Given the description of an element on the screen output the (x, y) to click on. 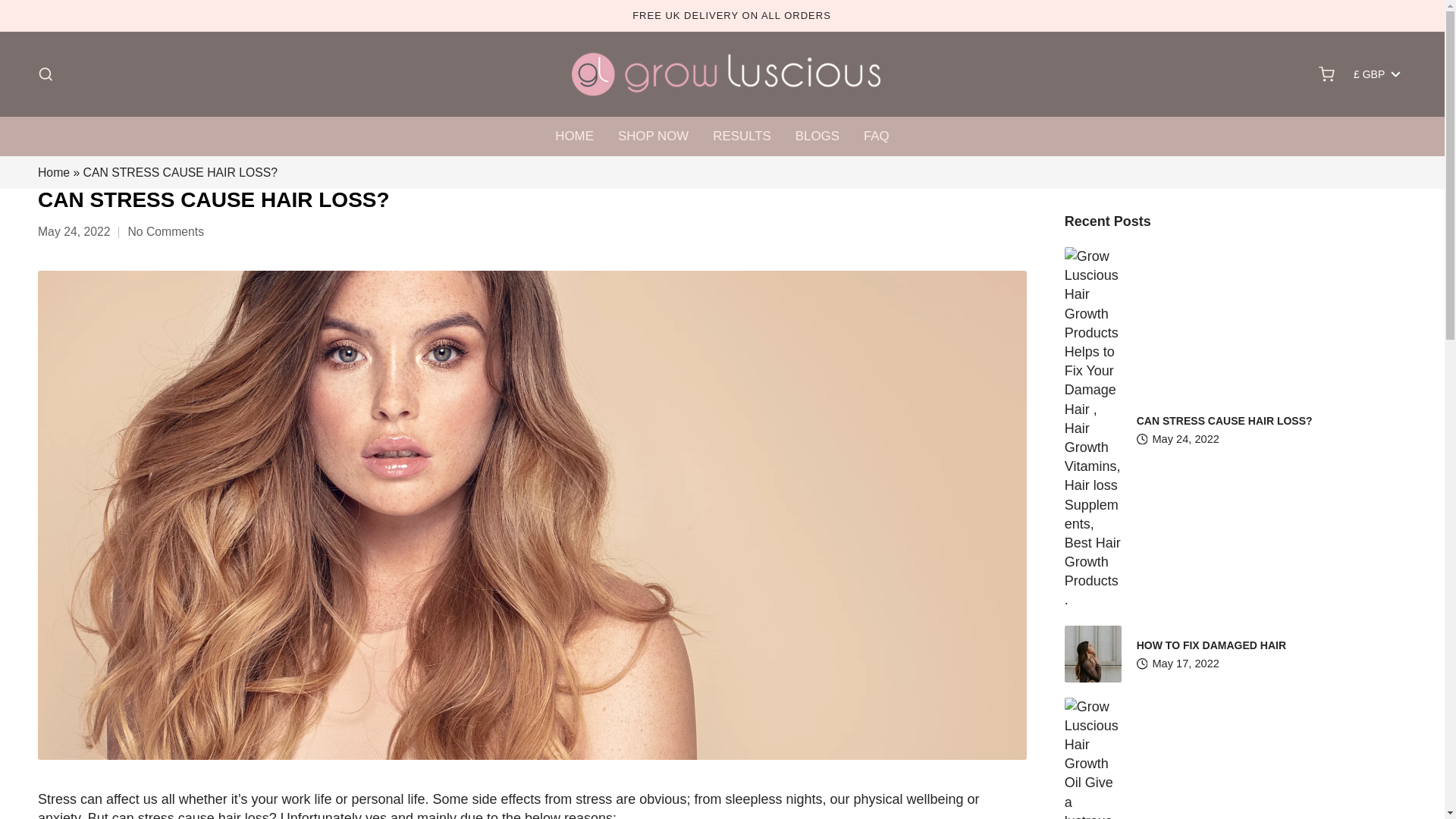
CAN STRESS CAUSE HAIR LOSS? (1225, 420)
CAN STRESS CAUSE HAIR LOSS? (1225, 420)
HOW TO FIX DAMAGED HAIR (1211, 645)
SHOP NOW (652, 136)
RESULTS (742, 136)
HOME (574, 136)
Home (53, 172)
BLOGS (817, 136)
No Comments (165, 231)
HOW TO FIX DAMAGED HAIR (1211, 645)
